Given the description of an element on the screen output the (x, y) to click on. 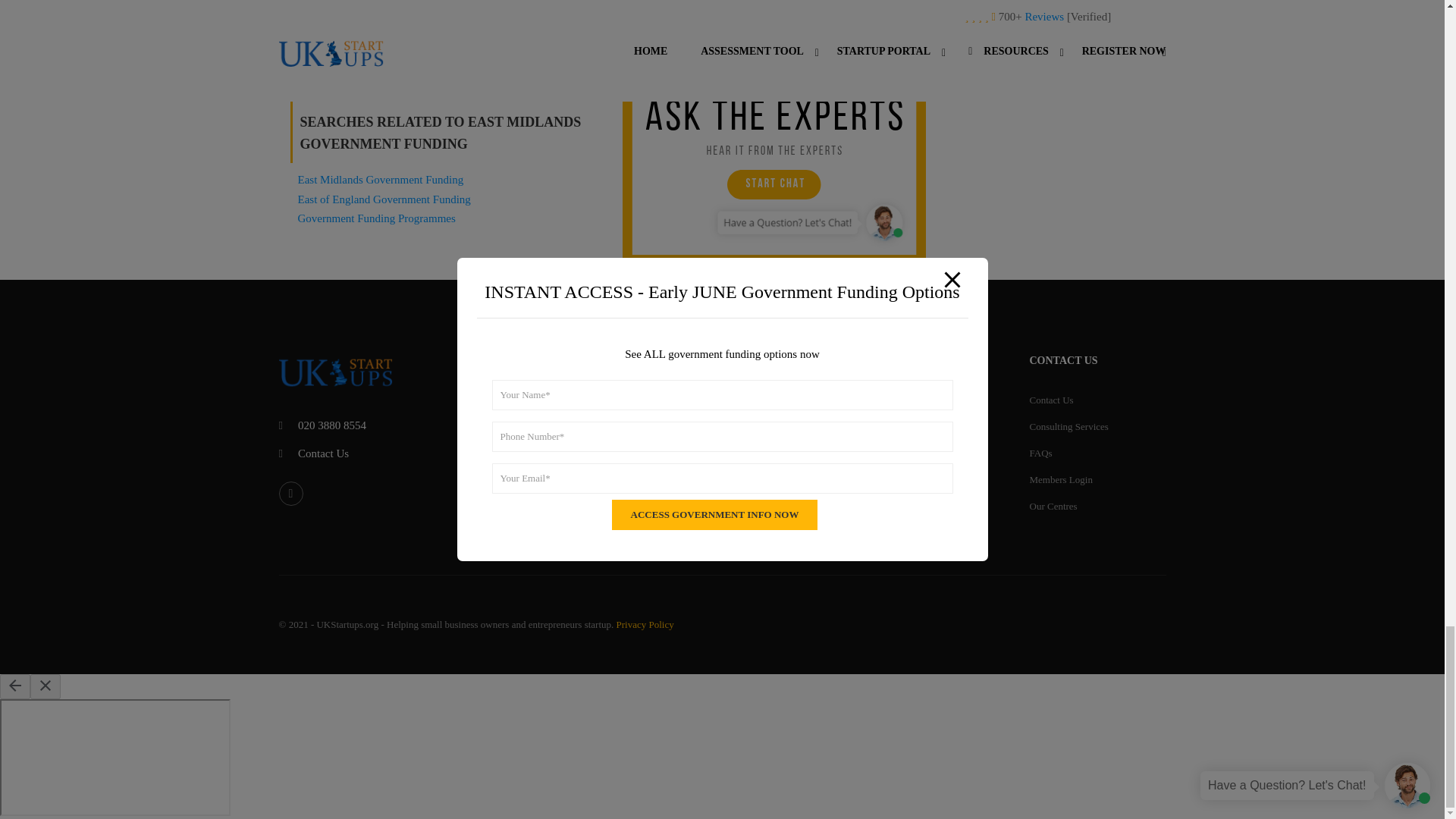
UKStartups Funding Experts (611, 43)
United Kingdom Business Startups (837, 43)
New Government Grants in the New Quarter (384, 43)
